Given the description of an element on the screen output the (x, y) to click on. 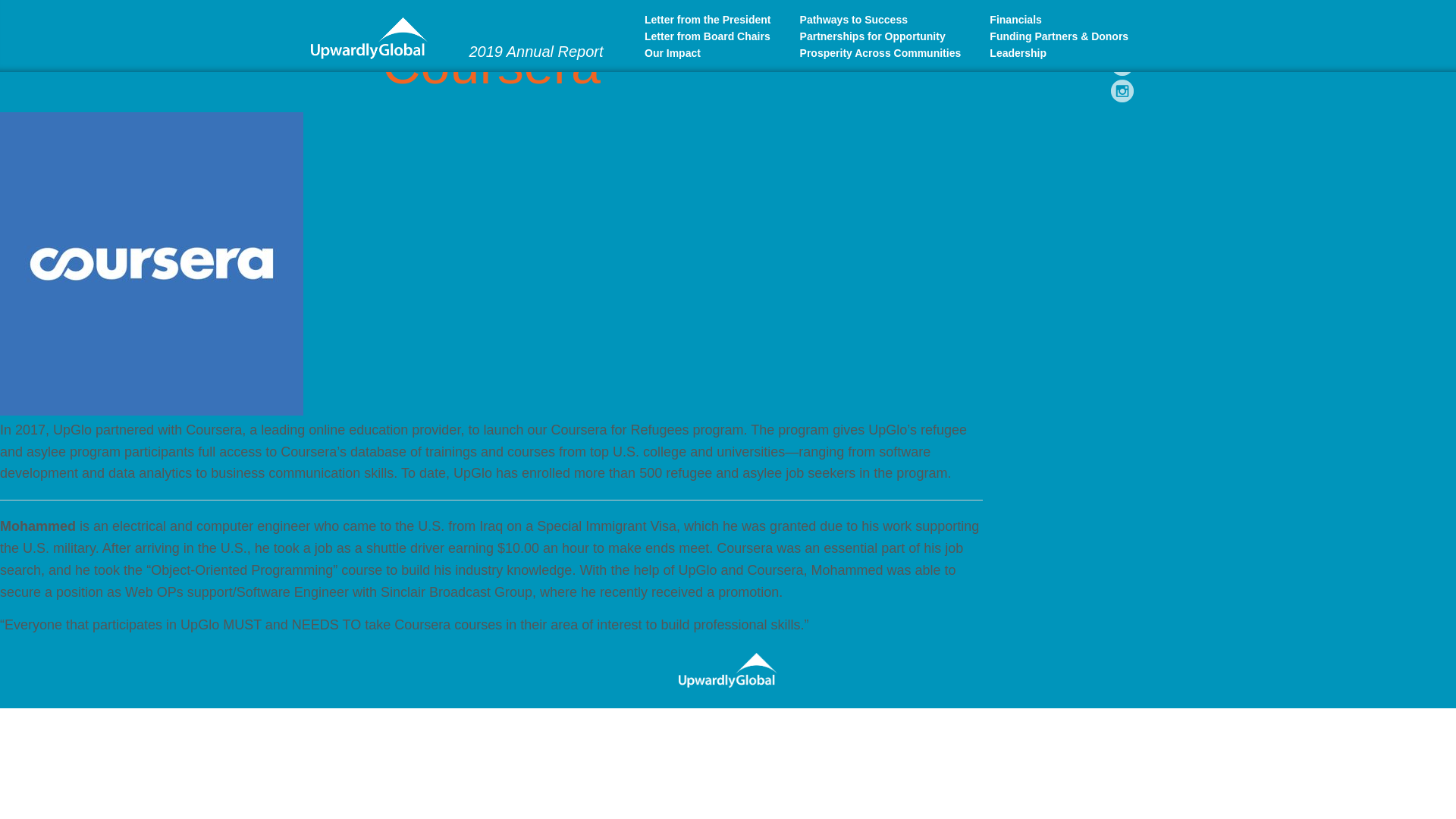
Partnerships for Opportunity (889, 36)
Instagram (1122, 90)
Our Impact (717, 53)
Prosperity Across Communities (889, 53)
Pathways to Success (889, 19)
Linkedin (1122, 64)
Letter from Board Chairs (717, 36)
Financials (1062, 19)
Leadership (1062, 53)
Twitter (1122, 37)
